Given the description of an element on the screen output the (x, y) to click on. 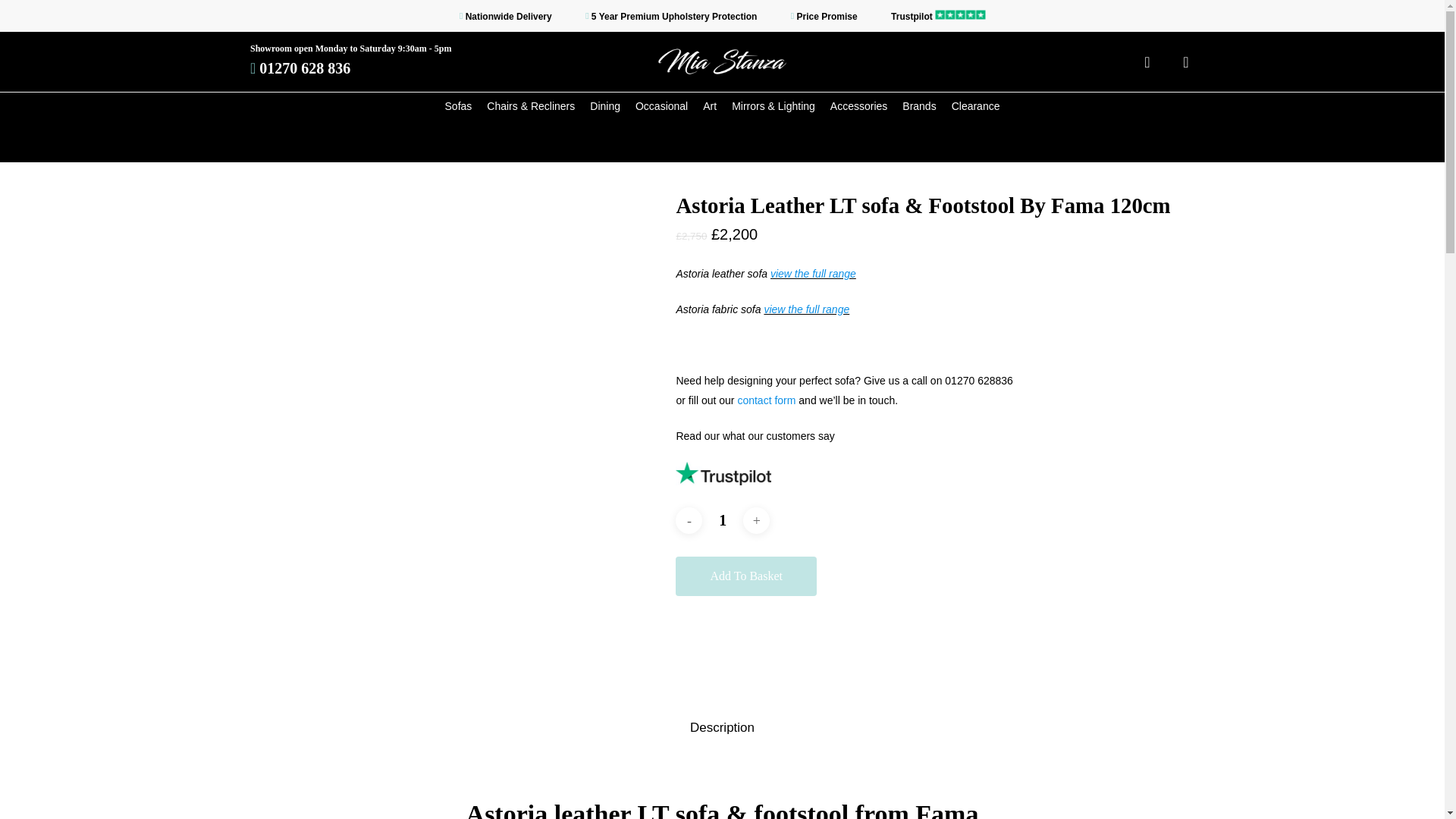
Price Promise (824, 15)
Sofas (458, 105)
01270 628 836 (304, 68)
Trustpilot (938, 15)
1 (721, 519)
5 Year Premium Upholstery Protection (670, 15)
search (1147, 62)
Call Mia Stanza (304, 68)
Nationwide Delivery (505, 15)
- (688, 519)
